Given the description of an element on the screen output the (x, y) to click on. 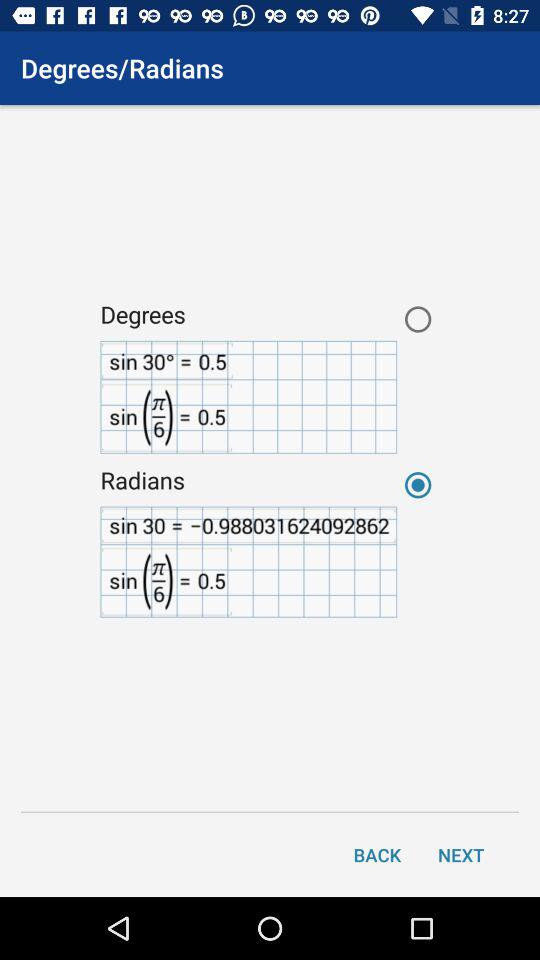
flip until the back item (377, 854)
